Given the description of an element on the screen output the (x, y) to click on. 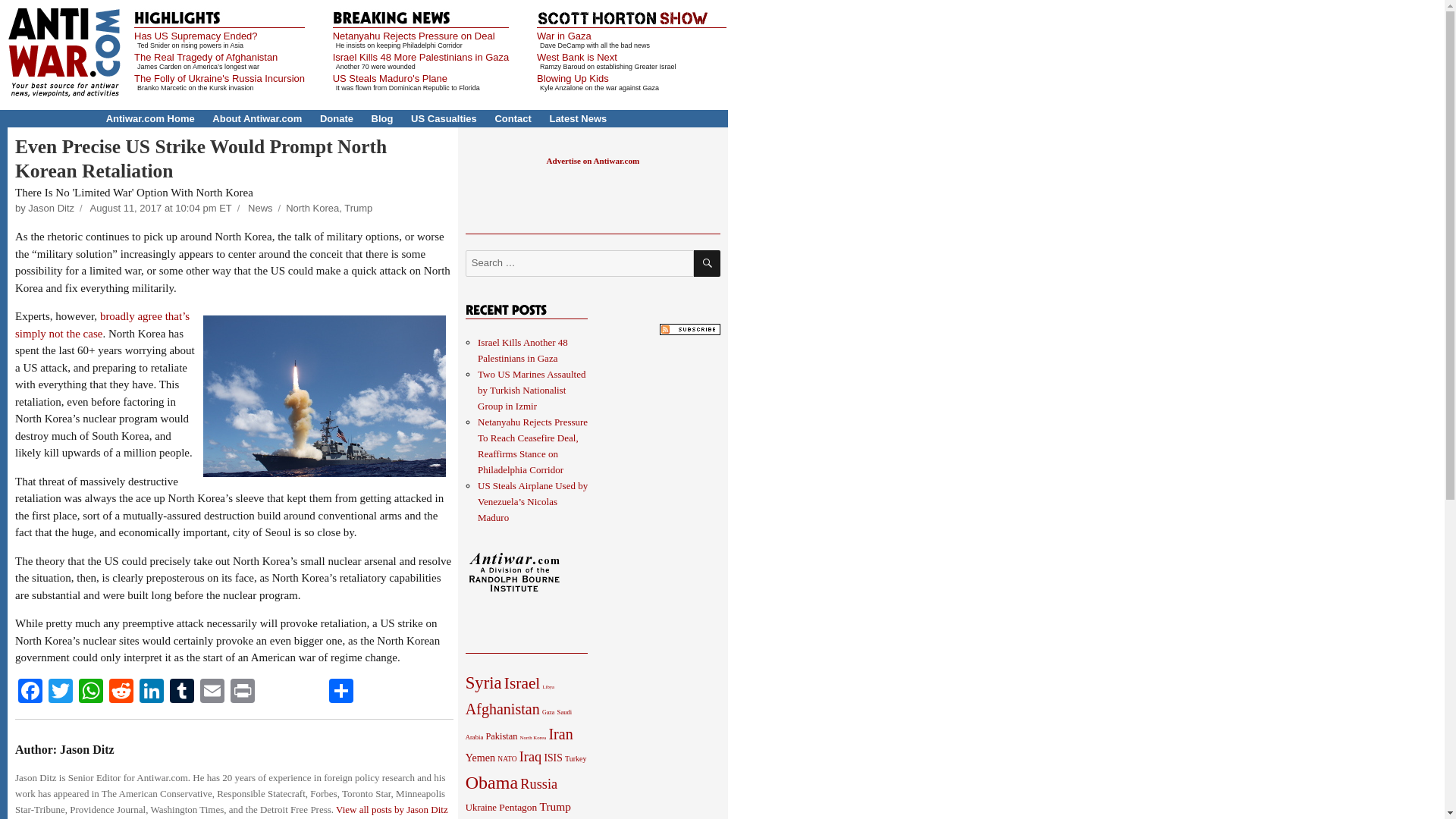
Tumblr (181, 692)
Israel Kills 48 More Palestinians in Gaza (421, 57)
Facebook (29, 692)
About Antiwar.com (256, 118)
LinkedIn (151, 692)
LinkedIn (151, 692)
Blowing Up Kids (572, 78)
Email (211, 692)
Email (211, 692)
News (260, 207)
